Given the description of an element on the screen output the (x, y) to click on. 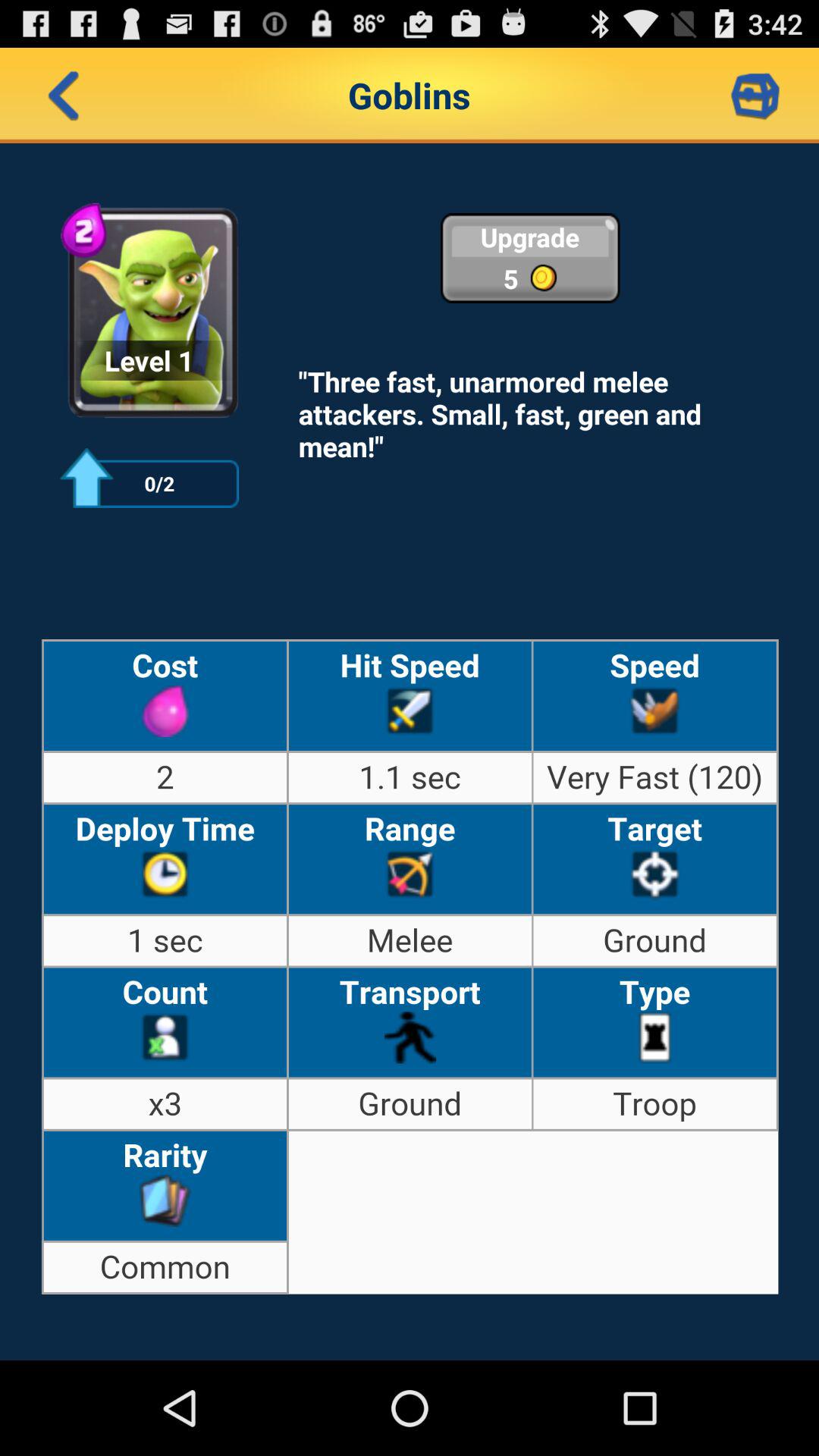
save content (755, 95)
